Given the description of an element on the screen output the (x, y) to click on. 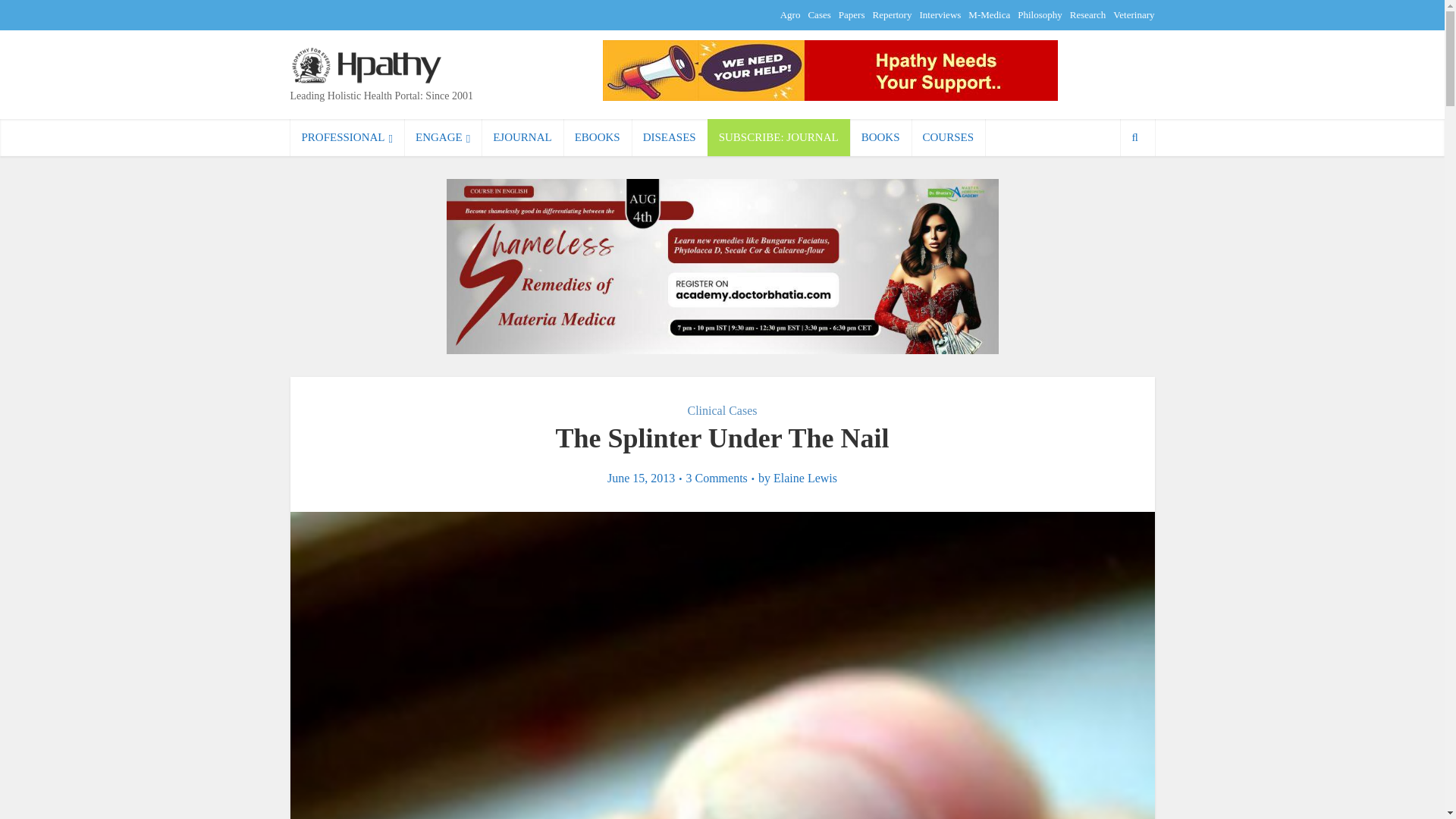
BOOKS (880, 137)
Philosophy (1039, 14)
Cases (818, 14)
Veterinary (1133, 14)
M-Medica (989, 14)
COURSES (948, 137)
Papers (851, 14)
PROFESSIONAL (346, 137)
EBOOKS (597, 137)
Research (1088, 14)
Repertory (891, 14)
ENGAGE (442, 137)
EJOURNAL (522, 137)
Interviews (939, 14)
Agro (790, 14)
